Given the description of an element on the screen output the (x, y) to click on. 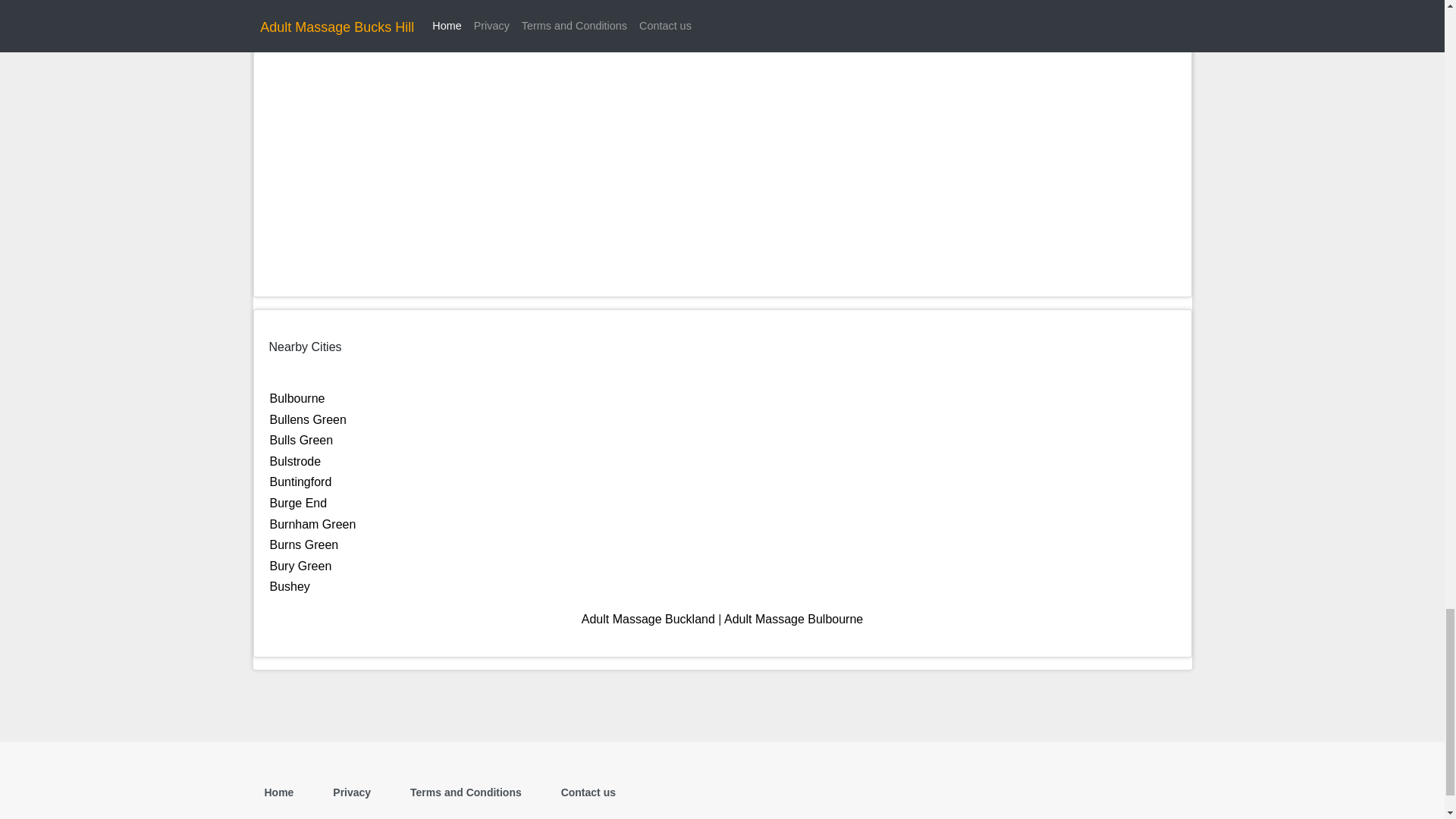
Buntingford (300, 481)
Burns Green (304, 544)
Bulbourne (296, 398)
Burnham Green (312, 523)
Burge End (298, 502)
Bushey (289, 585)
Bury Green (300, 565)
Bulls Green (301, 440)
Bulstrode (295, 461)
Adult Massage Buckland (647, 618)
Adult Massage Bulbourne (793, 618)
Bullens Green (307, 419)
